Given the description of an element on the screen output the (x, y) to click on. 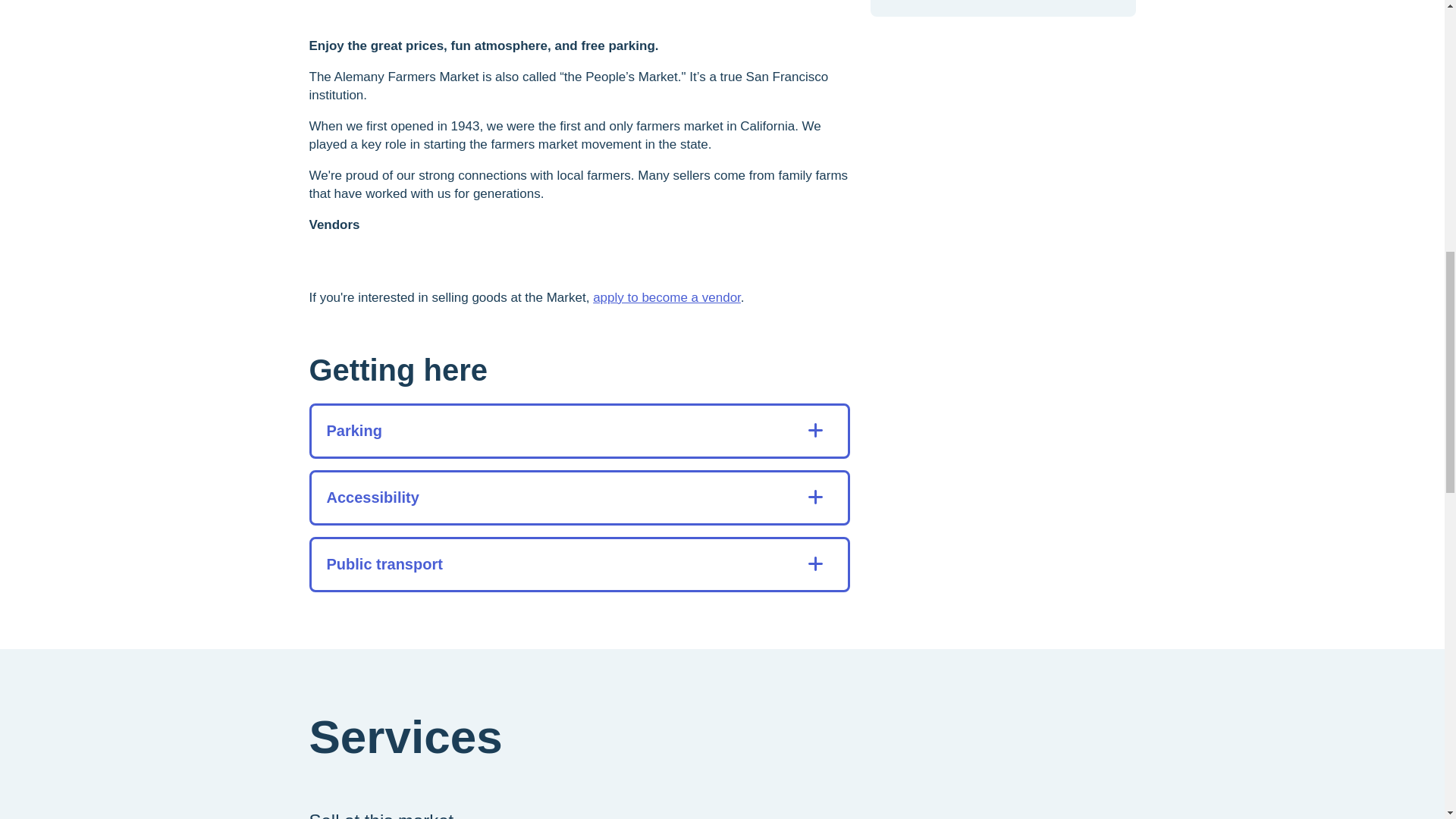
apply to become a vendor (666, 297)
